Given the description of an element on the screen output the (x, y) to click on. 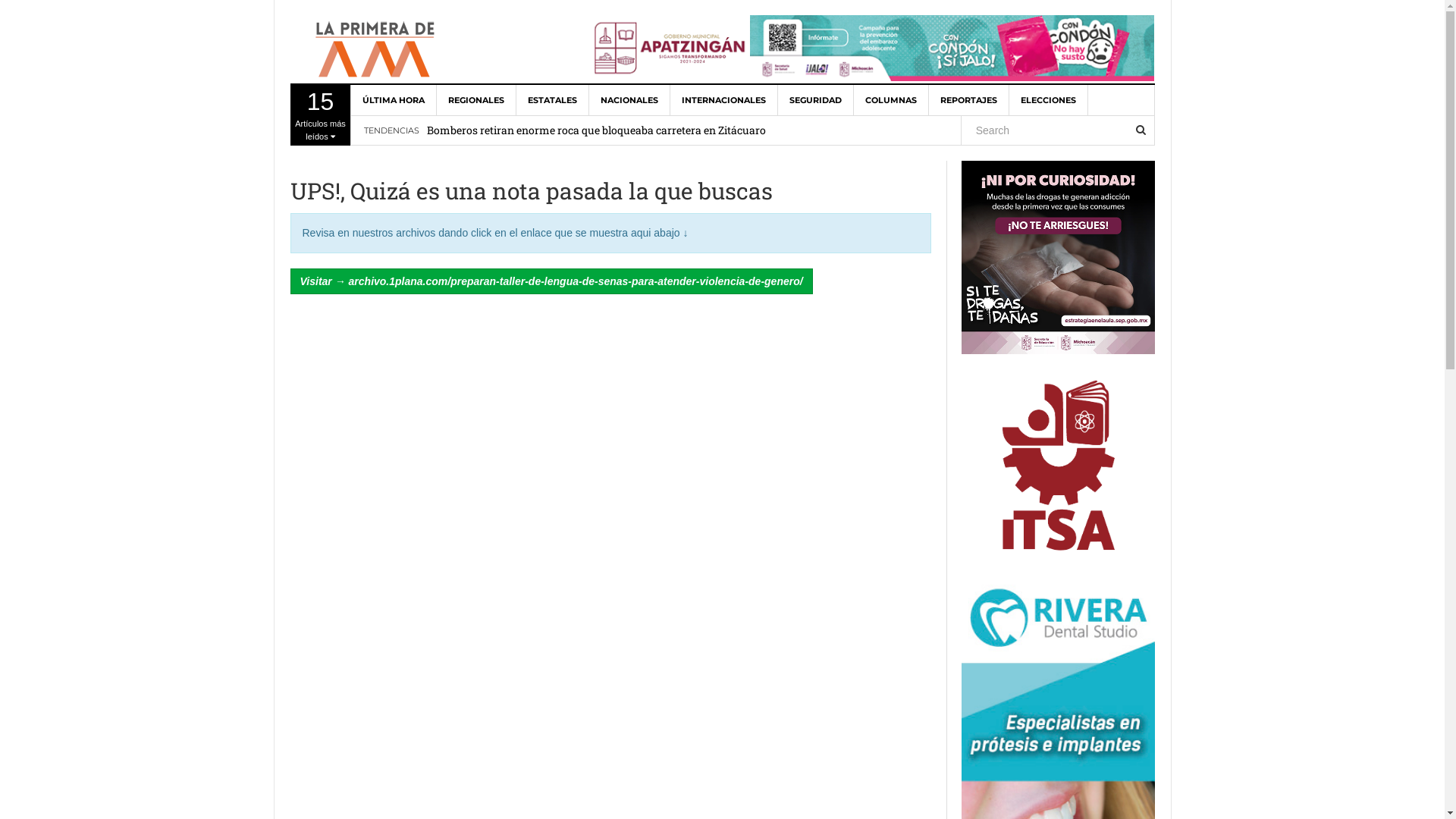
La Primera de AM Element type: hover (376, 49)
REGIONALES Element type: text (476, 99)
COLUMNAS Element type: text (890, 99)
NACIONALES Element type: text (628, 99)
ESTATALES Element type: text (551, 99)
ELECCIONES Element type: text (1047, 99)
SEGURIDAD Element type: text (815, 99)
INTERNACIONALES Element type: text (724, 99)
REPORTAJES Element type: text (968, 99)
